Given the description of an element on the screen output the (x, y) to click on. 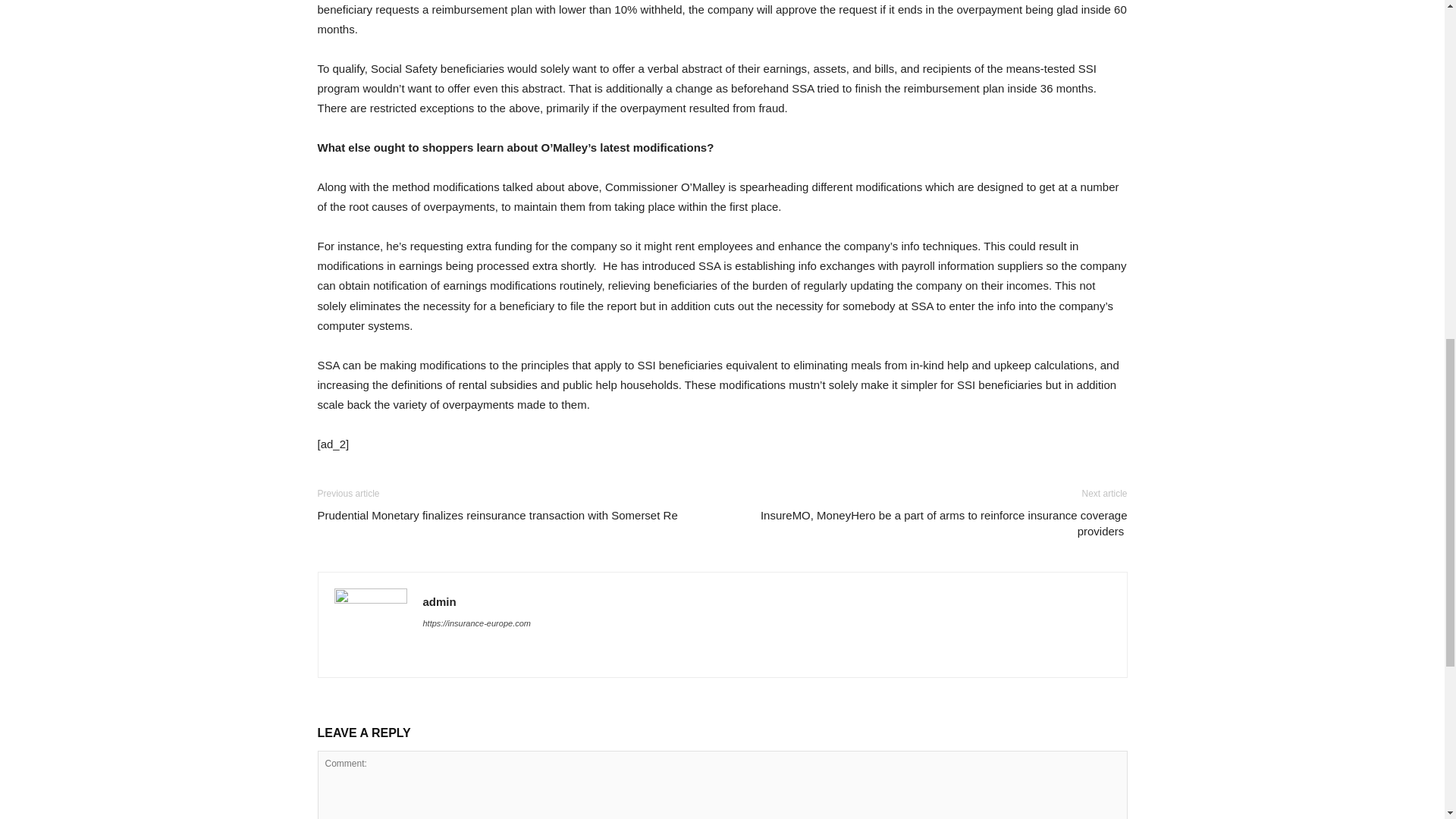
admin (440, 601)
